Given the description of an element on the screen output the (x, y) to click on. 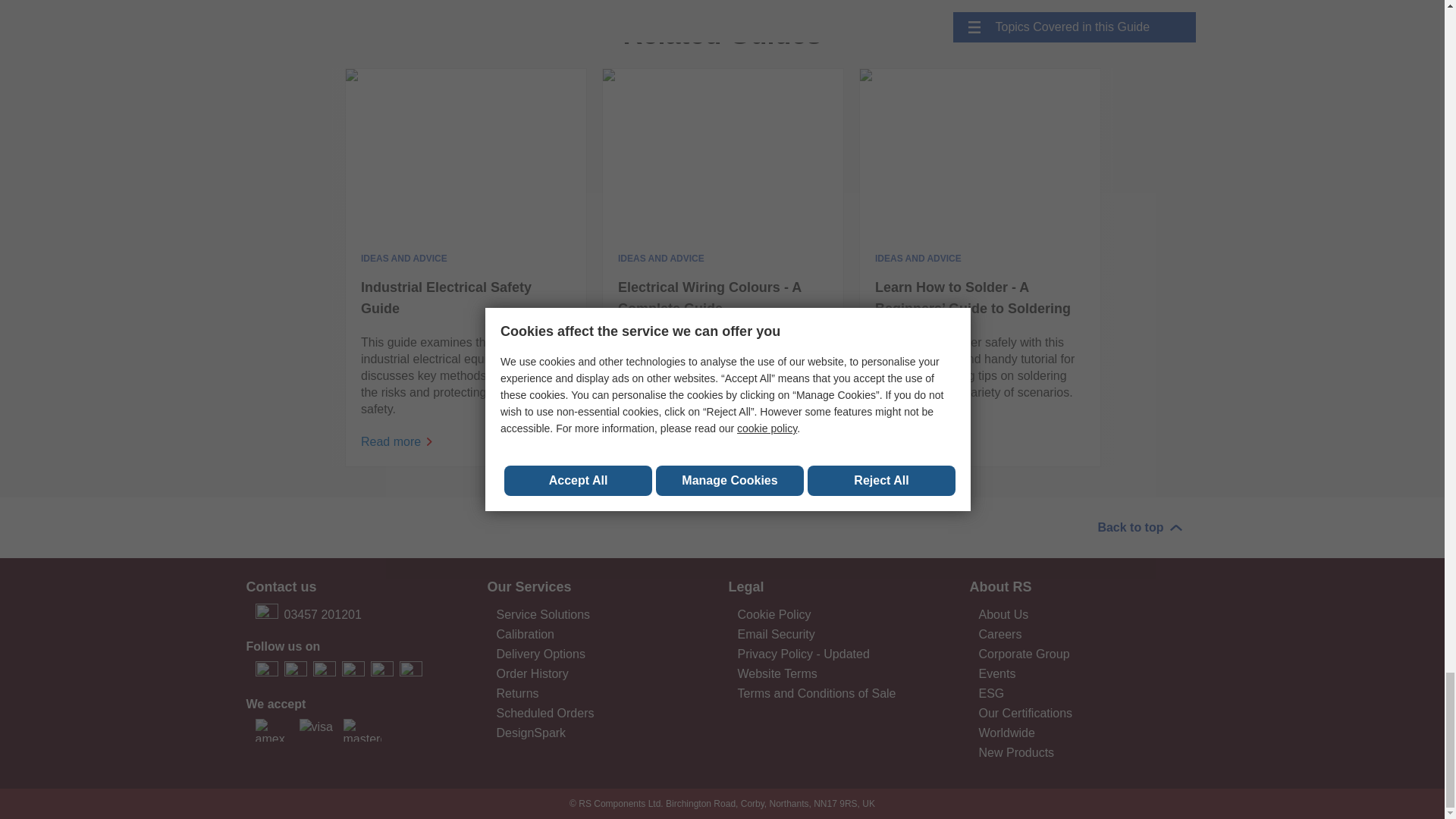
Electrical Wiring Colours - A Complete Guide (722, 297)
Read more (466, 152)
Read more (722, 152)
Industrial Electrical Safety Guide (465, 297)
Read more (980, 152)
